Given the description of an element on the screen output the (x, y) to click on. 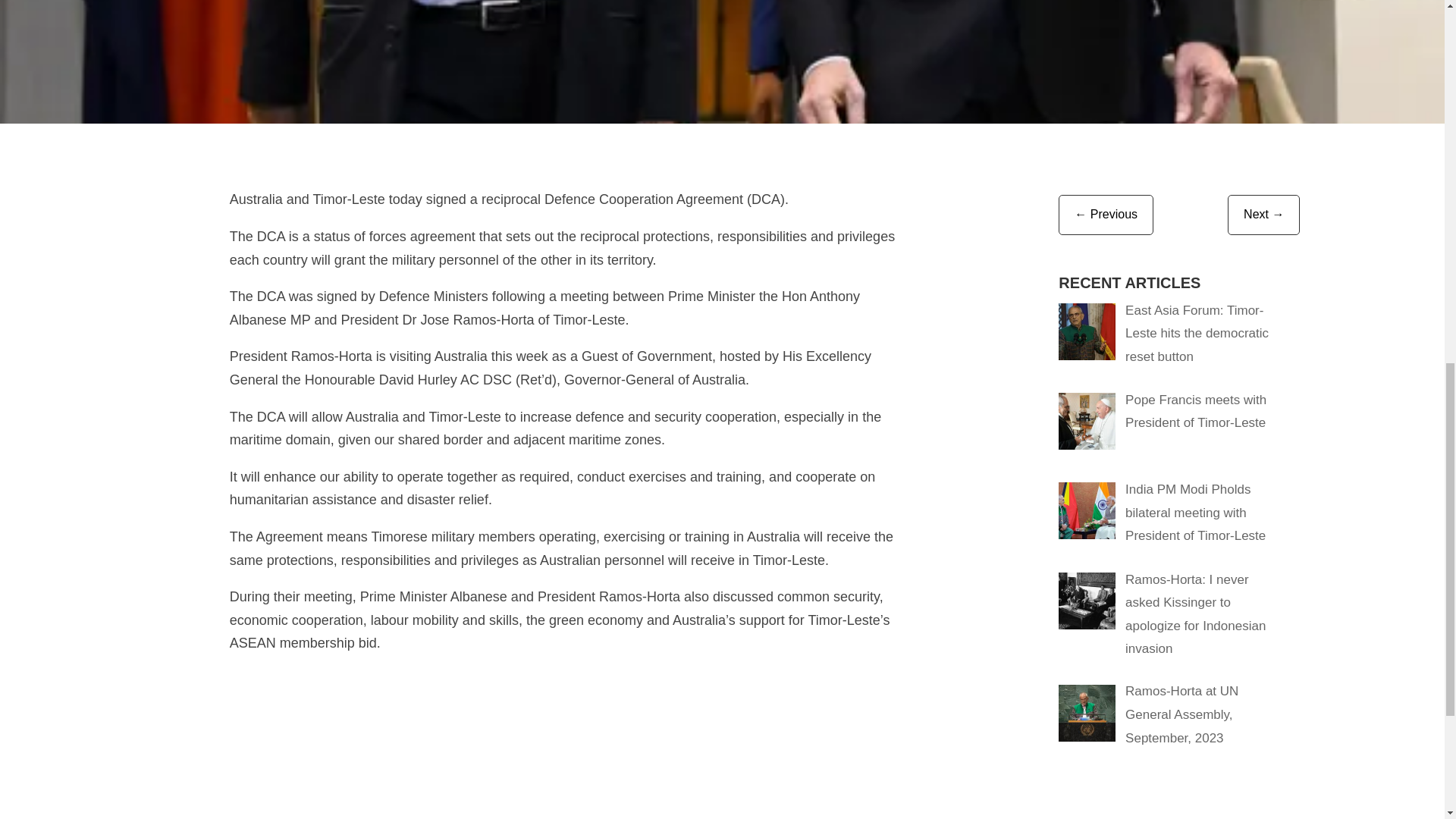
Pope Francis meets with President of Timor-Leste (1195, 411)
Ramos-Horta at UN General Assembly, September, 2023 (1182, 713)
